Given the description of an element on the screen output the (x, y) to click on. 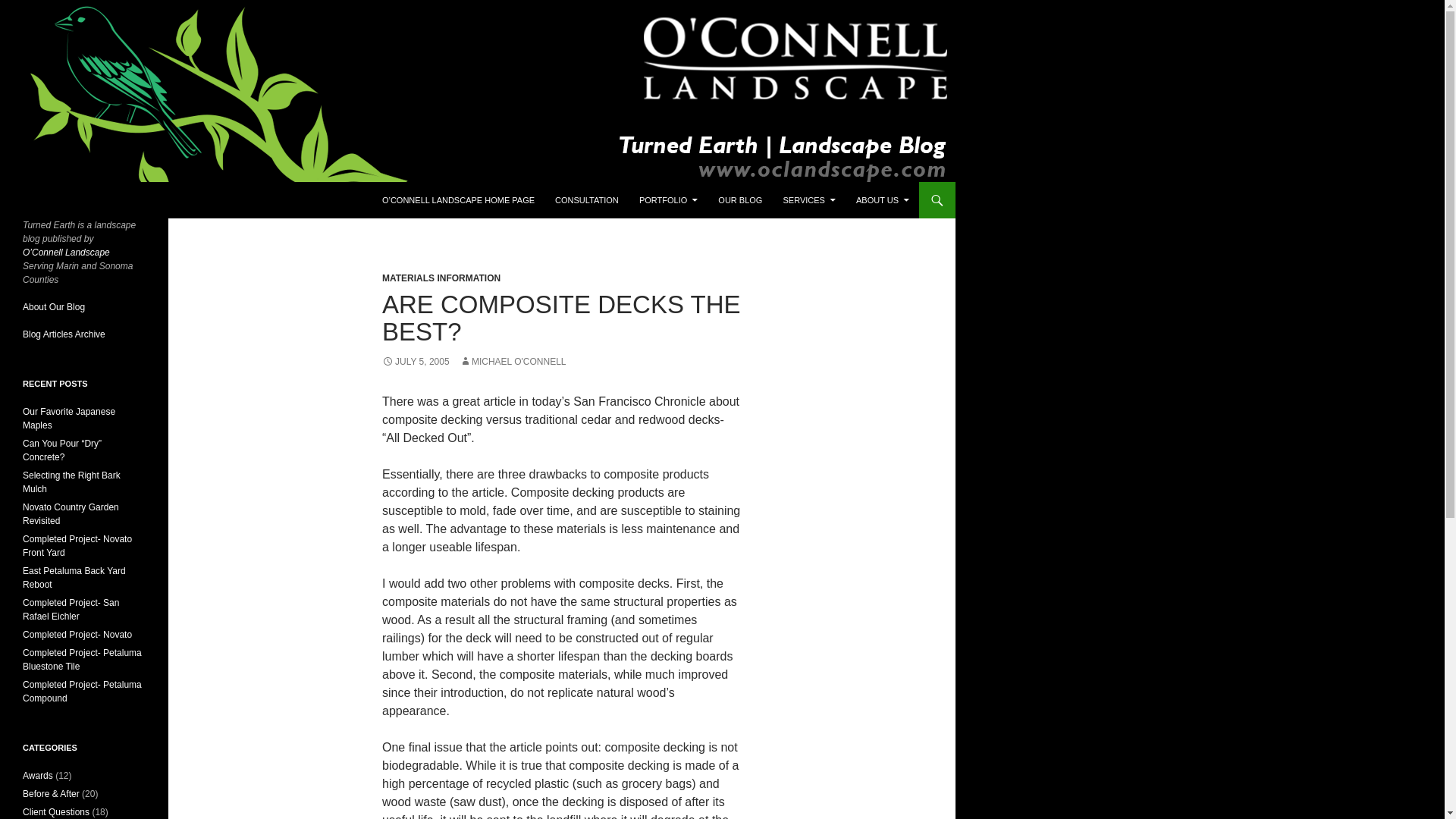
JULY 5, 2005 (415, 361)
CONSULTATION (586, 199)
ABOUT US (882, 199)
SERVICES (808, 199)
OUR BLOG (740, 199)
Turned Earth (64, 199)
MICHAEL O'CONNELL (513, 361)
About Our Blog (53, 307)
PORTFOLIO (668, 199)
MATERIALS INFORMATION (440, 277)
Our Favorite Japanese Maples (69, 418)
Blog Articles Archive (63, 334)
Novato Country Garden Revisited (71, 514)
